Given the description of an element on the screen output the (x, y) to click on. 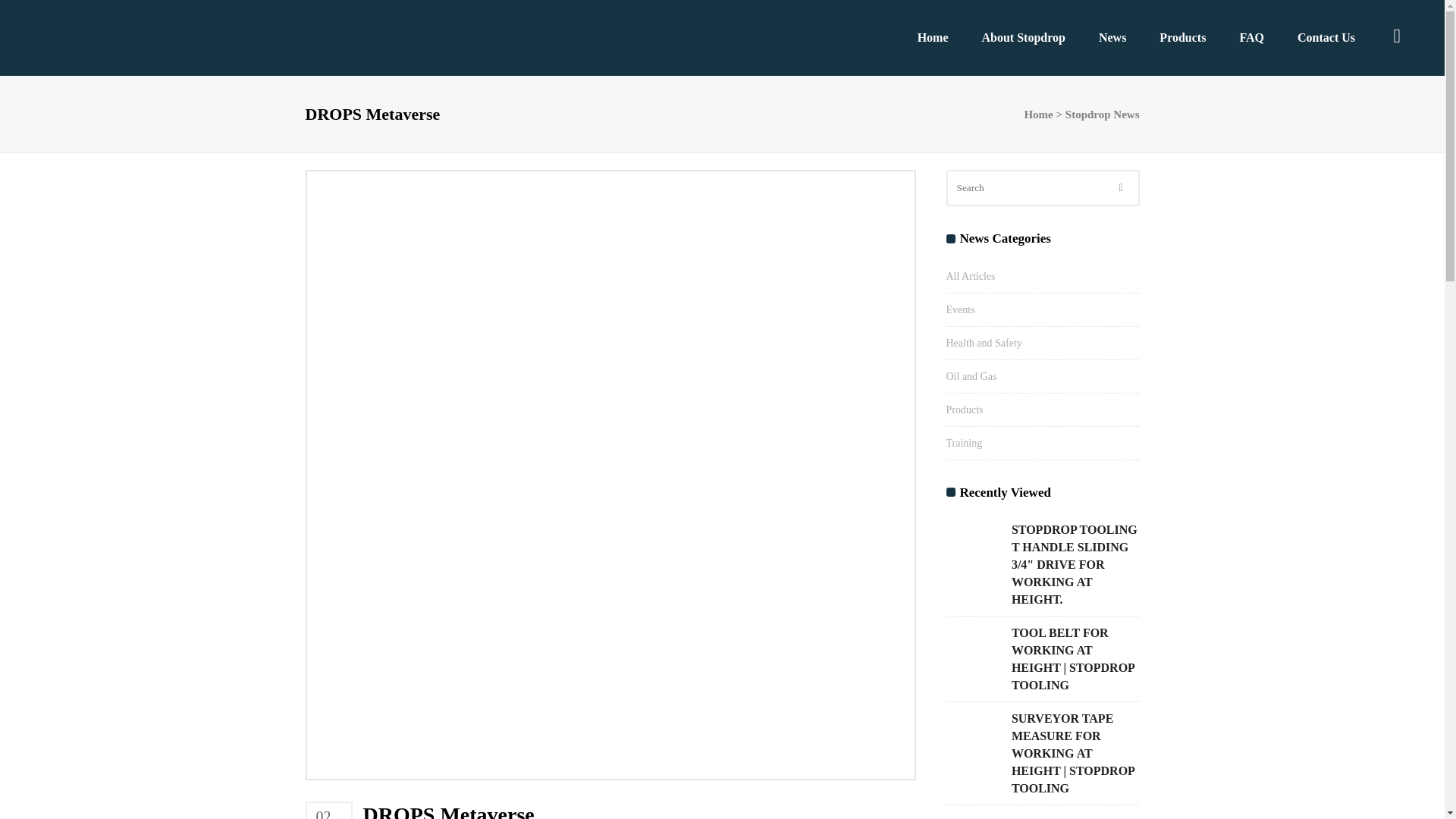
Contact Us (1326, 38)
Home (932, 38)
Products (1182, 38)
Home (1037, 114)
FAQ (1251, 38)
News (1112, 38)
About Stopdrop (1023, 38)
